Given the description of an element on the screen output the (x, y) to click on. 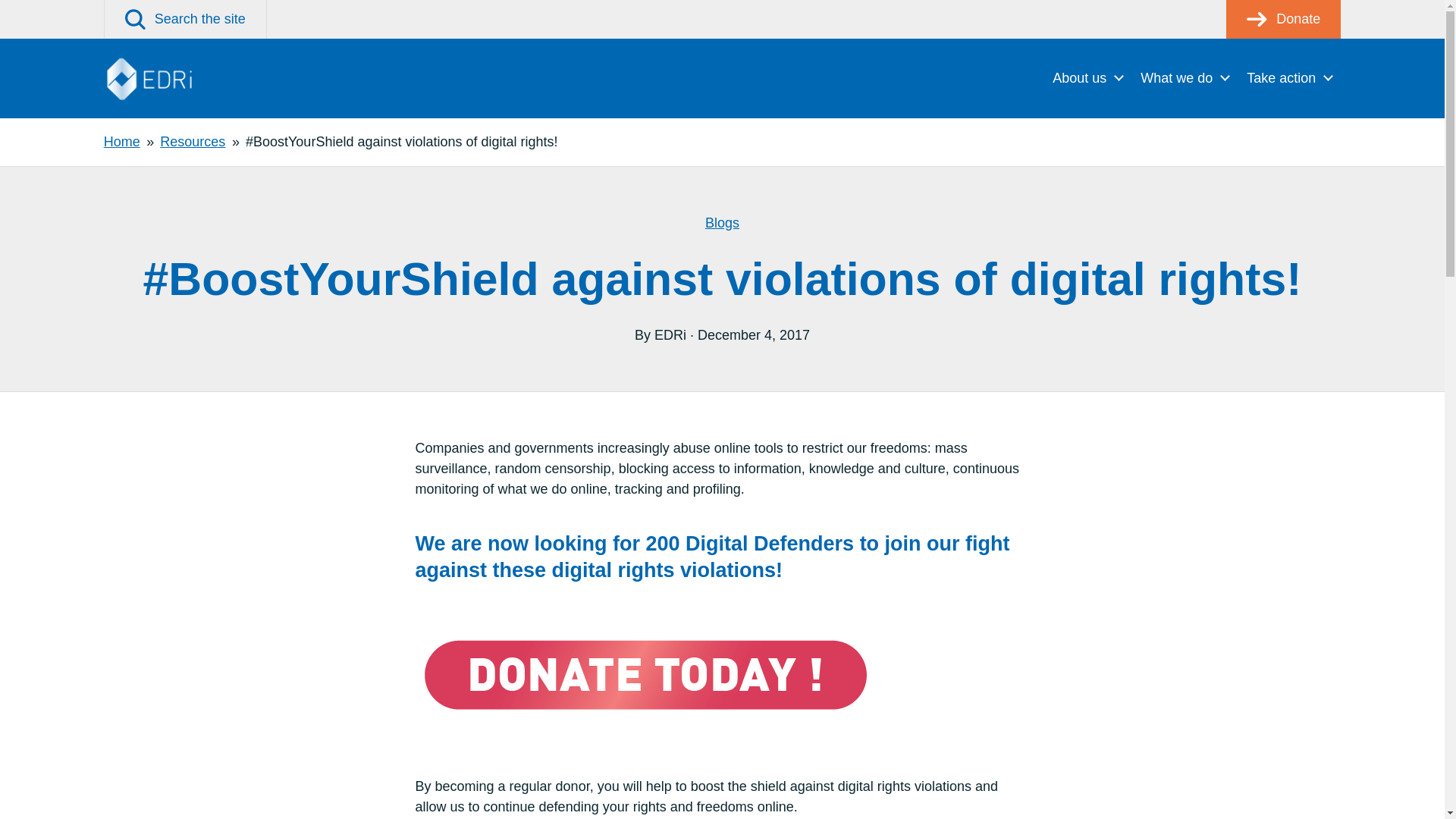
What we do (1184, 77)
Take action (1288, 77)
Donate (1282, 19)
About us (1087, 77)
Search the site (184, 19)
